Given the description of an element on the screen output the (x, y) to click on. 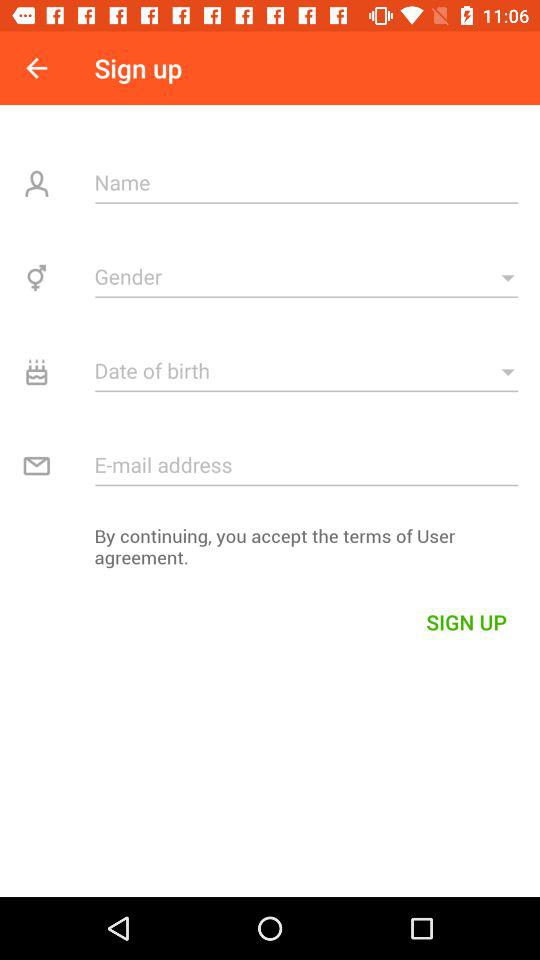
select icon next to the sign up item (36, 68)
